Given the description of an element on the screen output the (x, y) to click on. 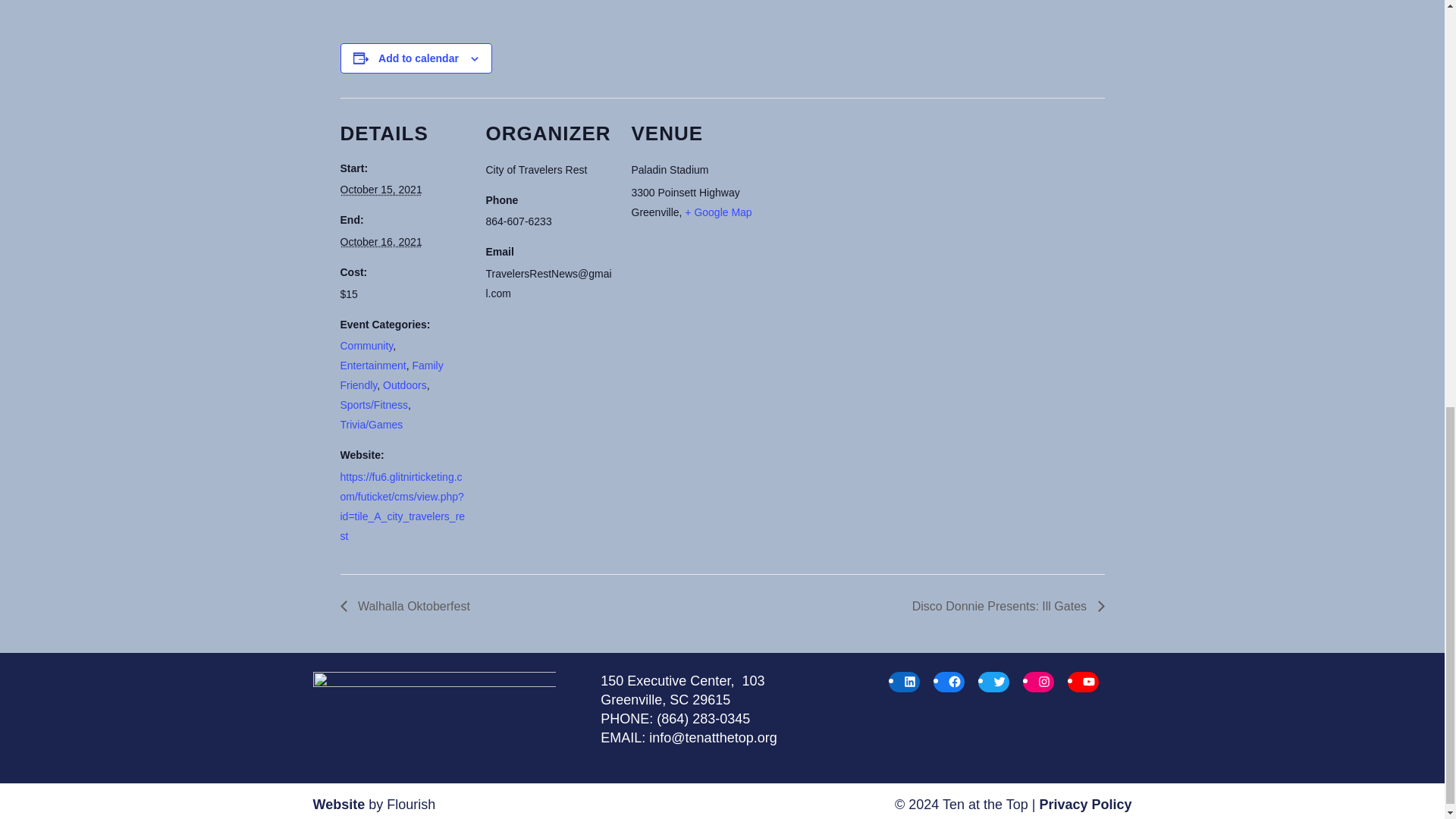
Google maps iframe displaying the address to Paladin Stadium (856, 201)
2021-10-16 (380, 241)
Click to view a Google Map (717, 212)
2021-10-15 (380, 189)
